Given the description of an element on the screen output the (x, y) to click on. 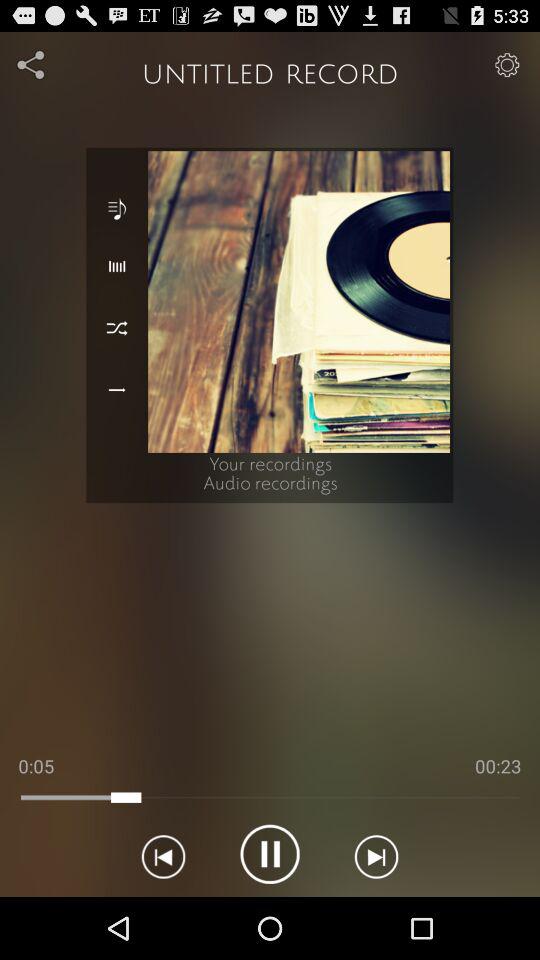
share (32, 64)
